Given the description of an element on the screen output the (x, y) to click on. 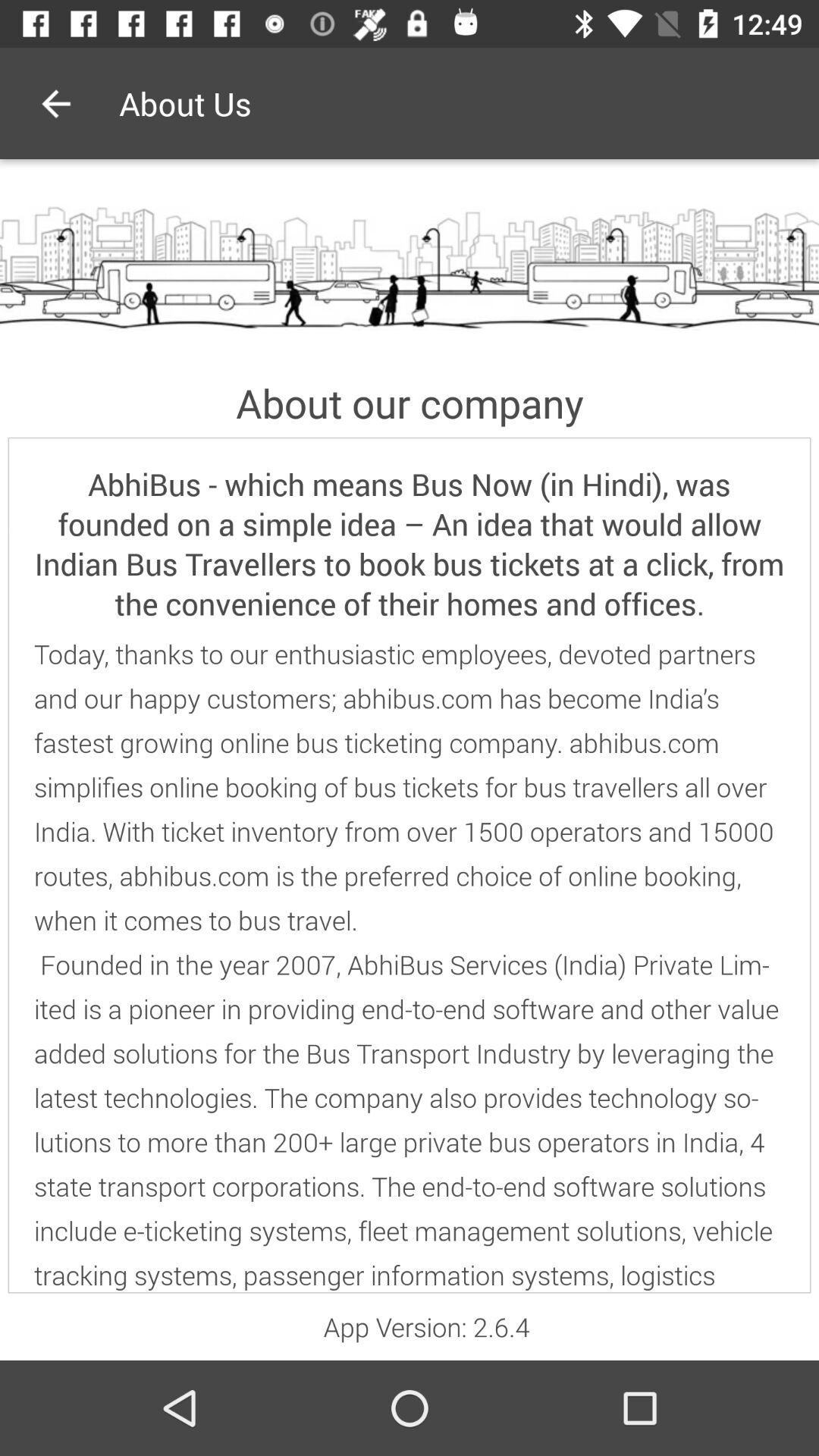
select today thanks to icon (409, 964)
